Given the description of an element on the screen output the (x, y) to click on. 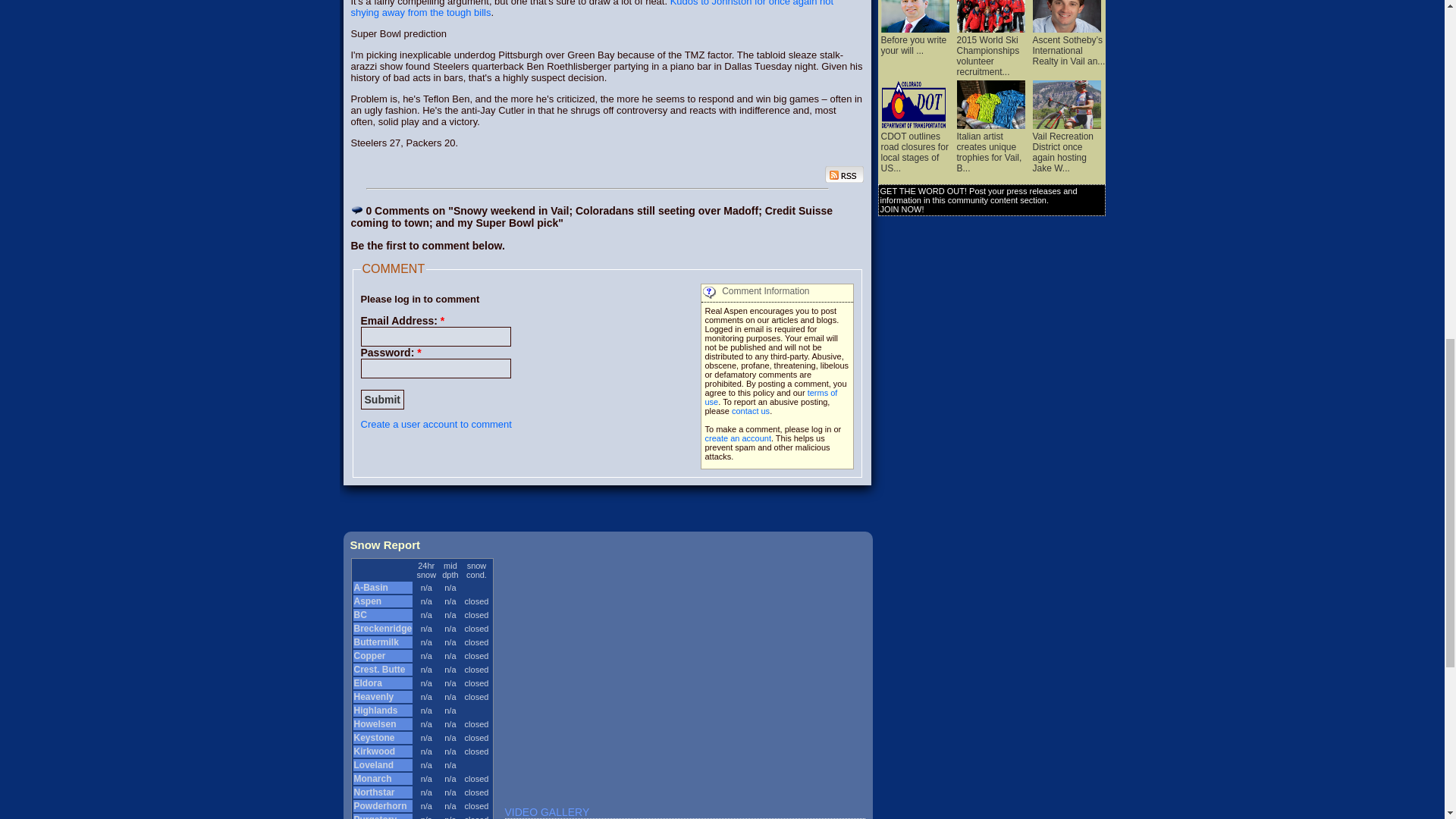
contact us (751, 410)
Create a user account to comment (436, 423)
create account to comment (737, 438)
create an account (737, 438)
Submit (382, 399)
RealAspen News and Community Content Feed (844, 174)
Submit (382, 399)
Click here to join and comment (436, 423)
terms of use (771, 397)
